Given the description of an element on the screen output the (x, y) to click on. 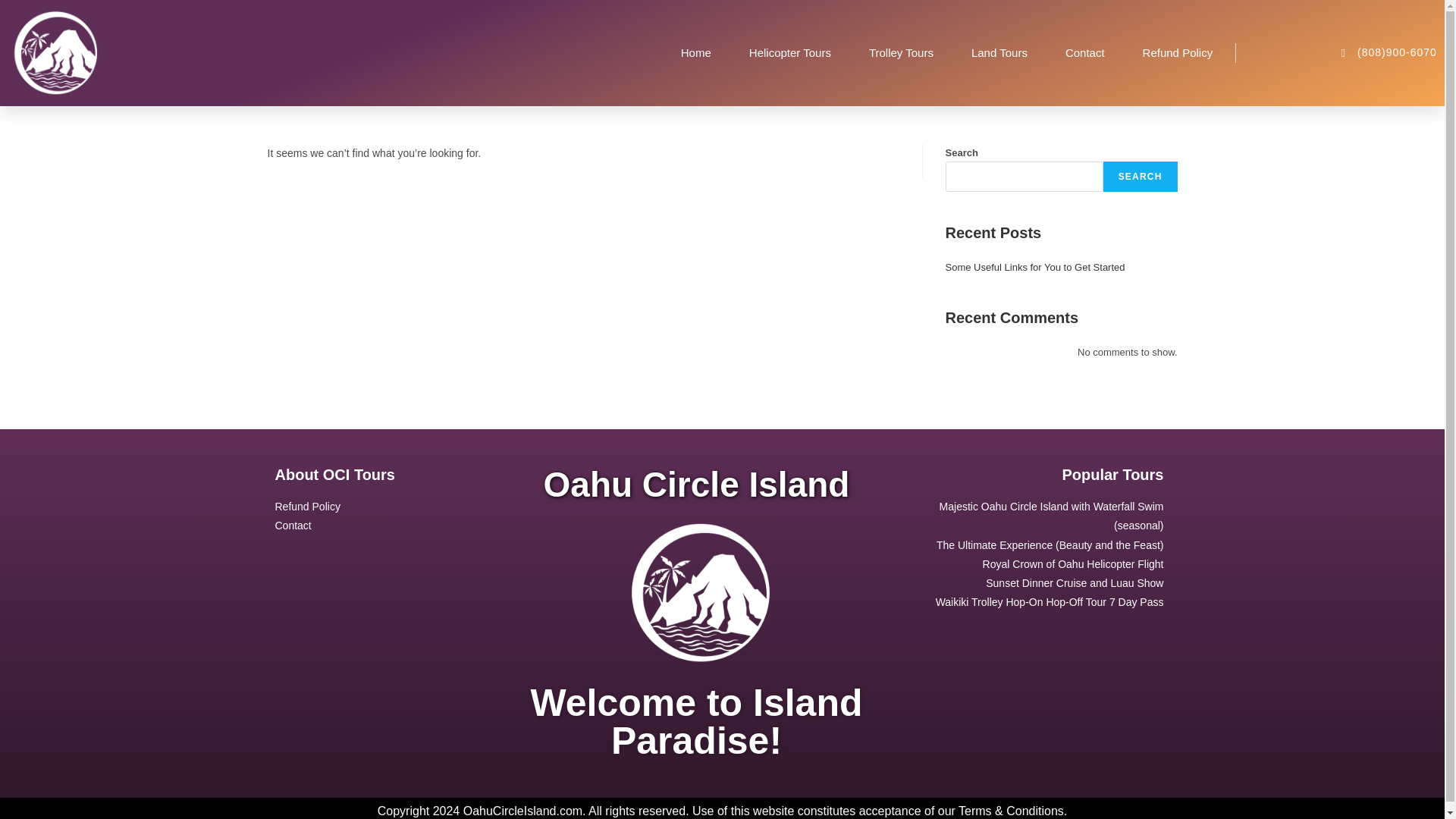
Helicopter Tours (790, 52)
Contact (380, 525)
SEARCH (1140, 176)
Refund Policy (380, 506)
Sunset Dinner Cruise and Luau Show (1034, 583)
Some Useful Links for You to Get Started (1034, 266)
Refund Policy (1177, 52)
Trolley Tours (901, 52)
Royal Crown of Oahu Helicopter Flight (1034, 564)
Waikiki Trolley Hop-On Hop-Off Tour 7 Day Pass (1034, 601)
